Given the description of an element on the screen output the (x, y) to click on. 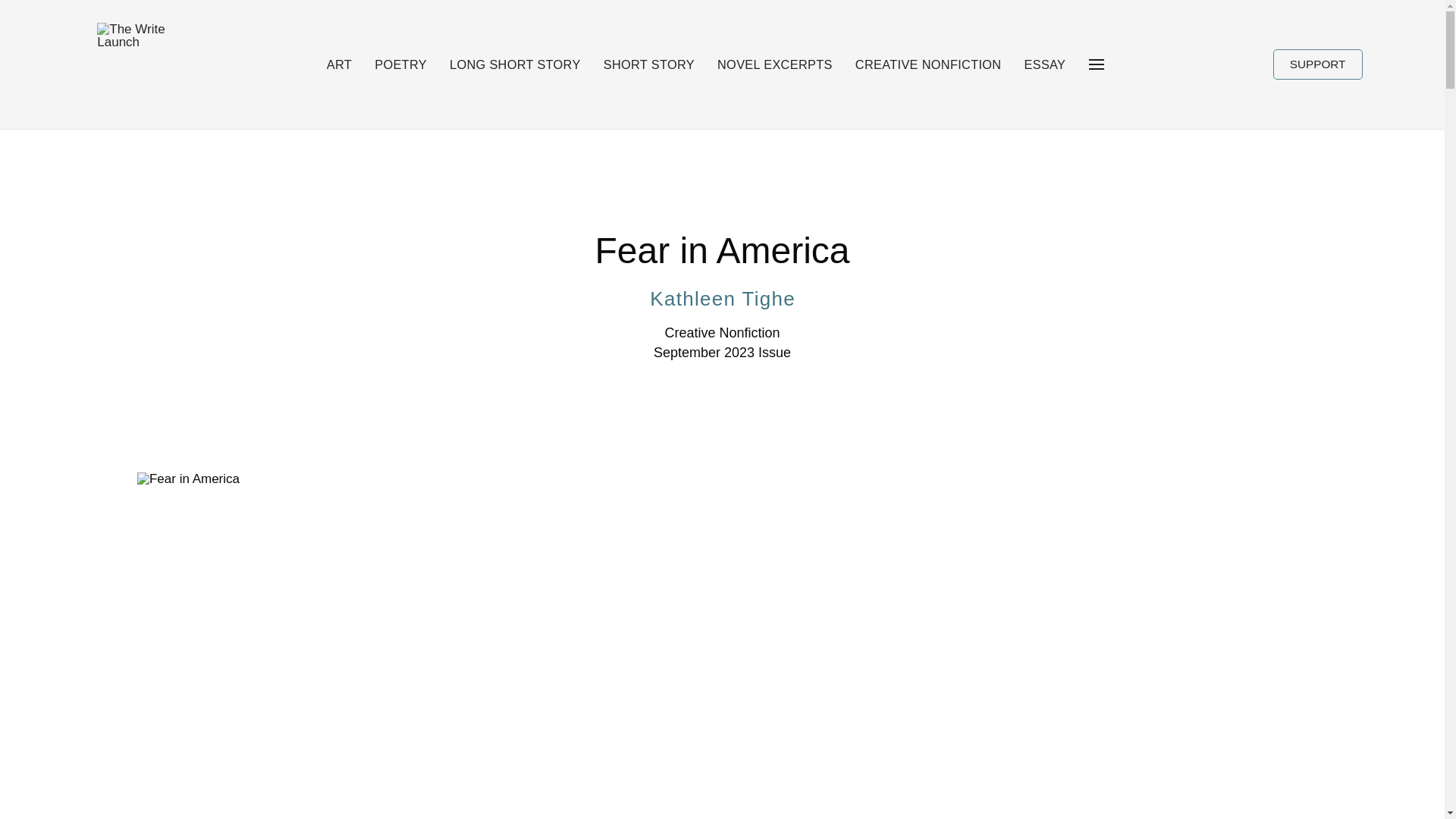
CREATIVE NONFICTION (927, 64)
SHORT STORY (648, 64)
POETRY (400, 64)
ART (339, 64)
NOVEL EXCERPTS (774, 64)
Creative Nonfiction (720, 333)
Kathleen Tighe (721, 298)
SUPPORT (1317, 63)
September 2023 Issue (721, 352)
ESSAY (1045, 64)
LONG SHORT STORY (514, 64)
